Given the description of an element on the screen output the (x, y) to click on. 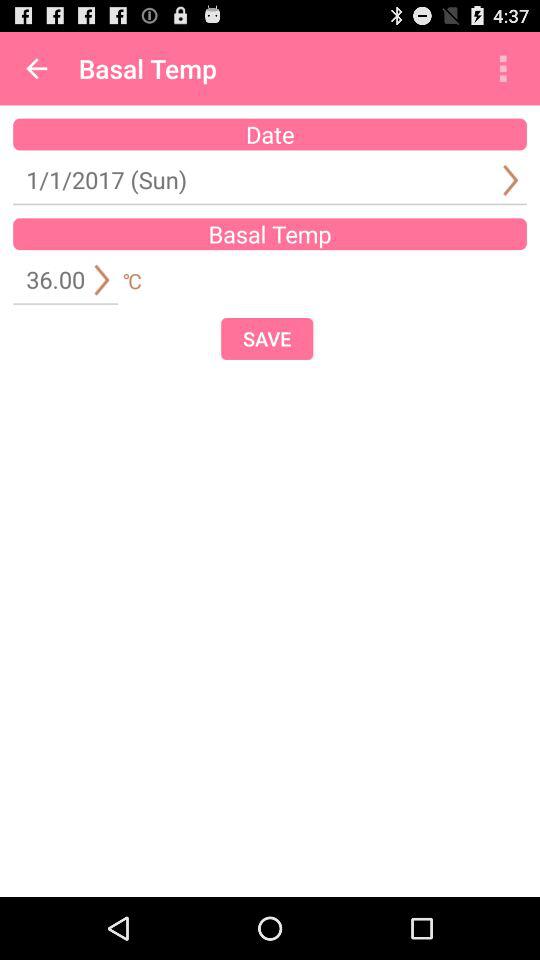
open app next to basal temp icon (503, 67)
